Given the description of an element on the screen output the (x, y) to click on. 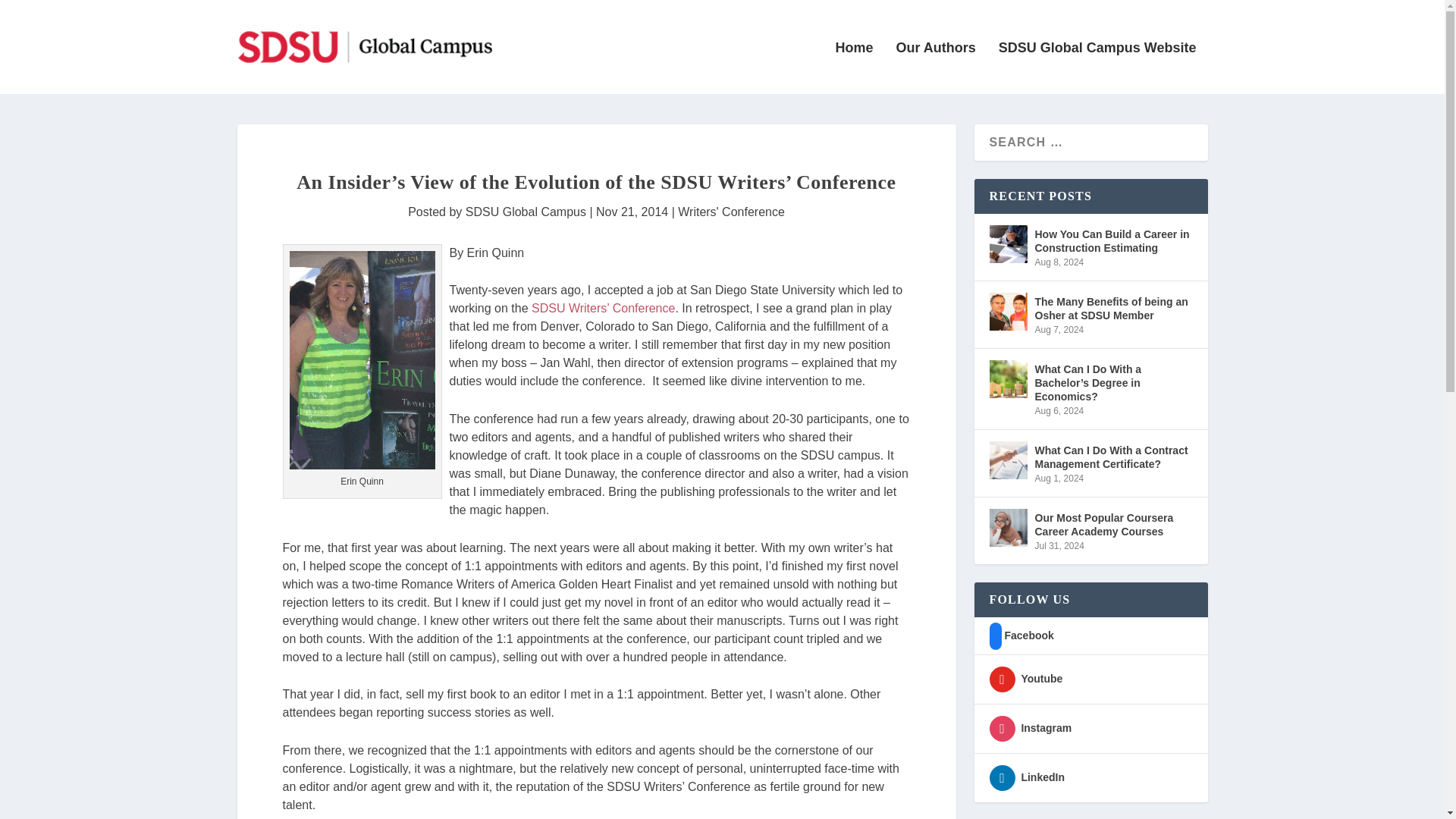
Writers' Conference (731, 211)
The Many Benefits of being an Osher at SDSU Member (1007, 311)
SDSU Global Campus Website (1097, 67)
Our Most Popular Coursera Career Academy Courses (1112, 524)
How You Can Build a Career in Construction Estimating (1007, 243)
What Can I Do With a Contract Management Certificate? (1007, 460)
What Can I Do With a Contract Management Certificate? (1112, 457)
Search (34, 14)
Posts by SDSU Global Campus (525, 211)
Our Most Popular Coursera Career Academy Courses (1007, 527)
